Given the description of an element on the screen output the (x, y) to click on. 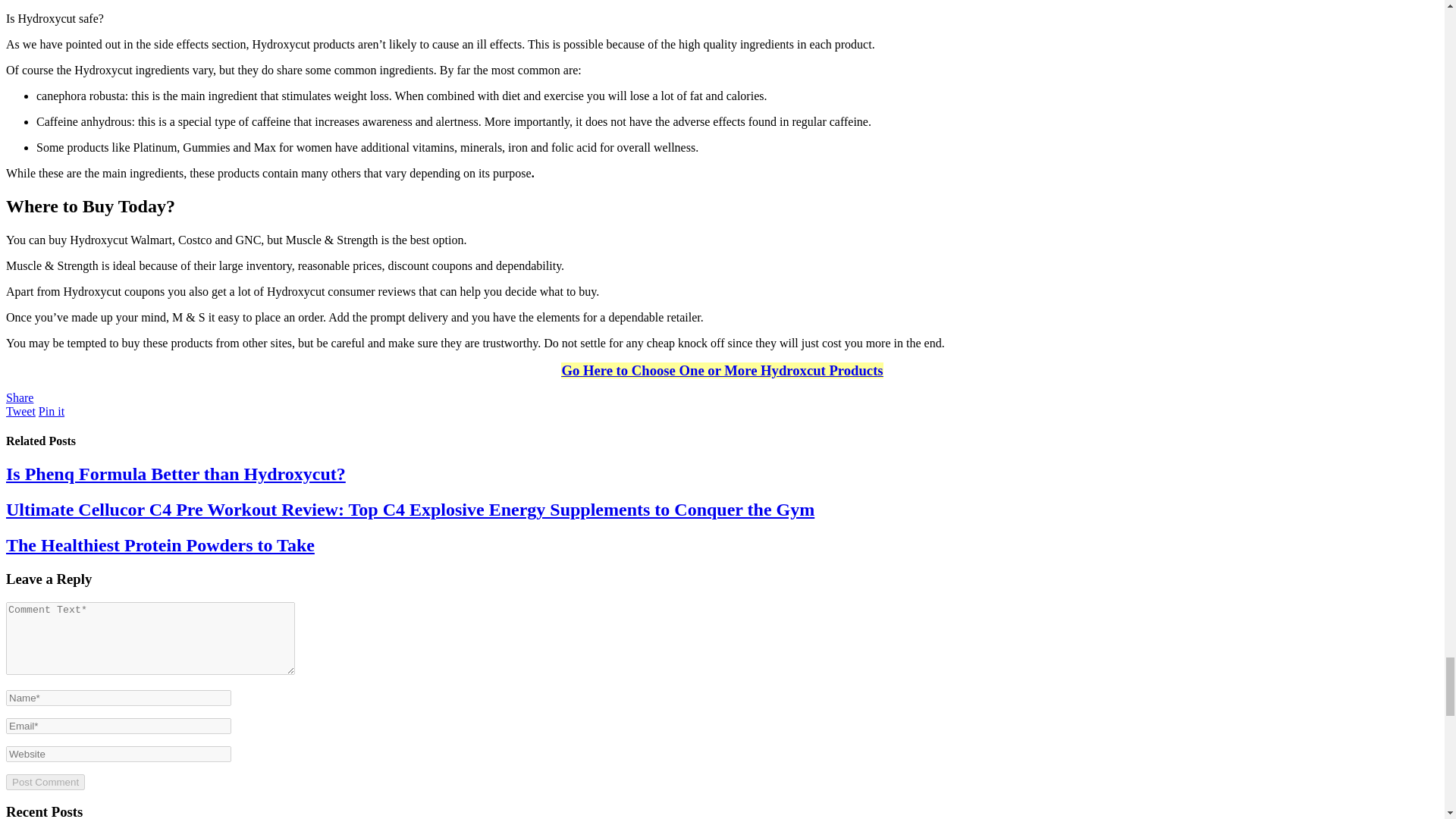
The Healthiest Protein Powders to Take (159, 545)
Is Phenq Formula Better than Hydroxycut? (175, 474)
Post Comment (44, 781)
